Given the description of an element on the screen output the (x, y) to click on. 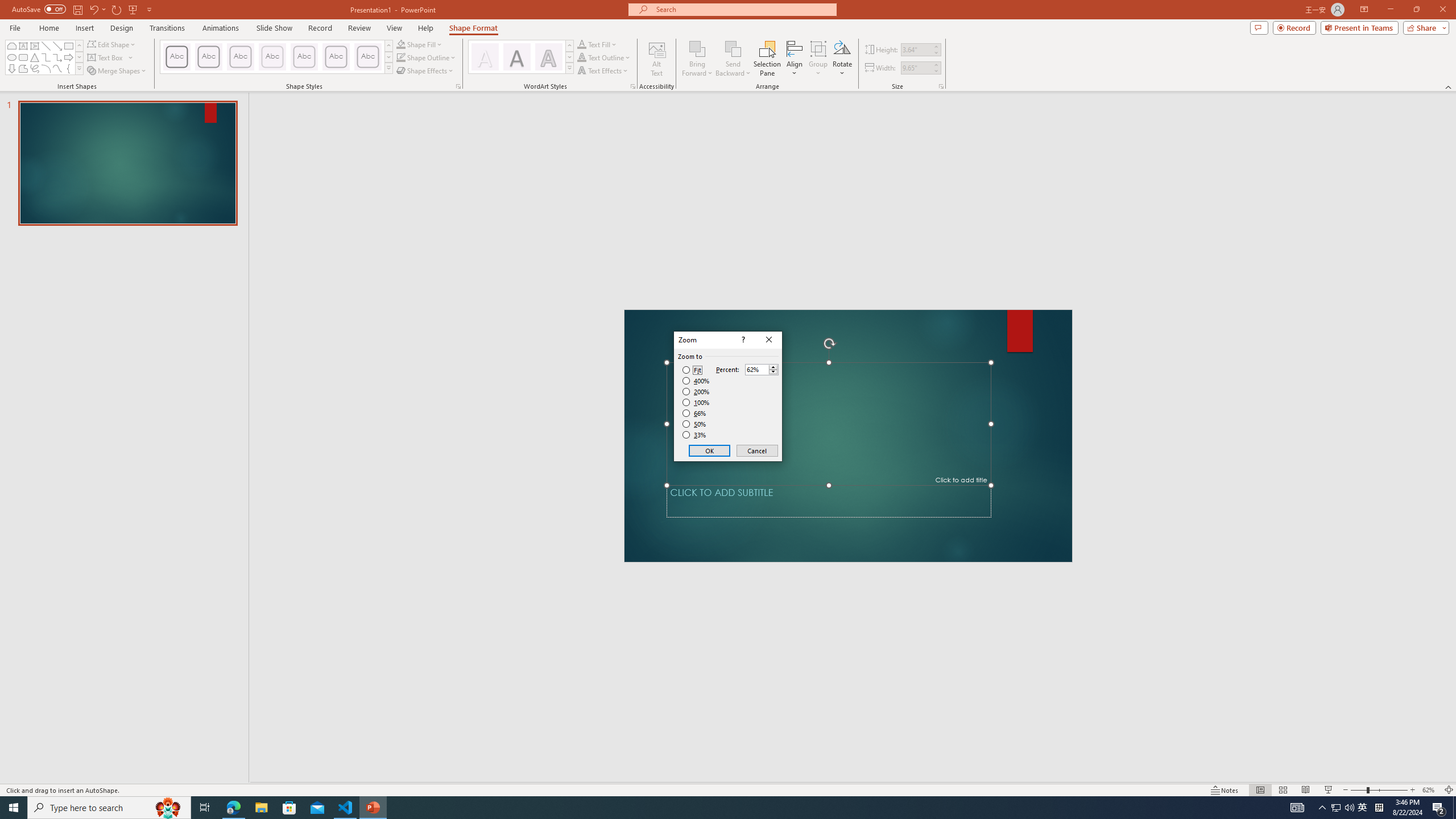
Percent (756, 369)
Zoom 62% (1430, 790)
